Given the description of an element on the screen output the (x, y) to click on. 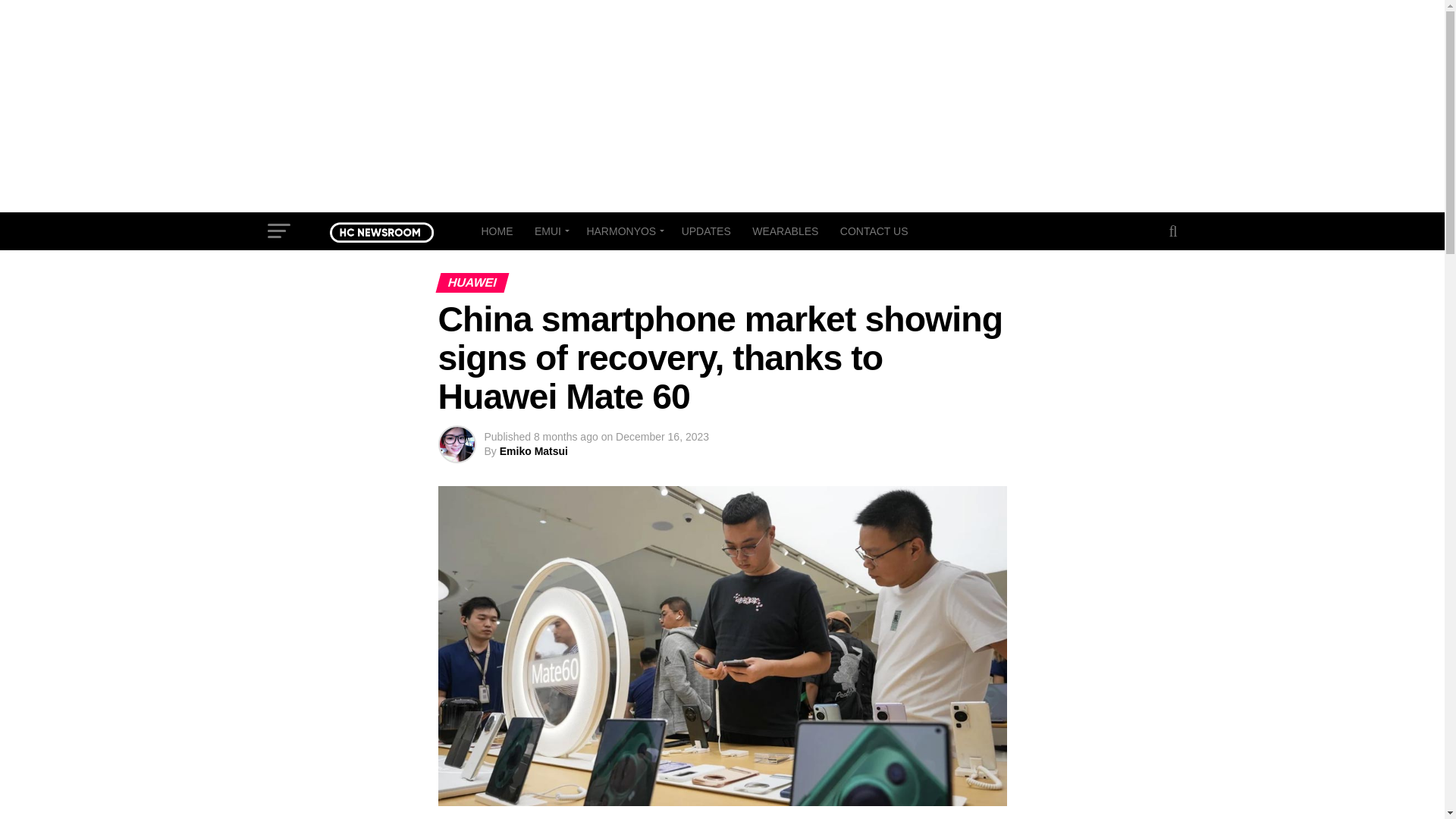
HOME (496, 231)
UPDATES (705, 231)
HARMONYOS (622, 231)
Posts by Emiko Matsui (533, 451)
EMUI (549, 231)
